Given the description of an element on the screen output the (x, y) to click on. 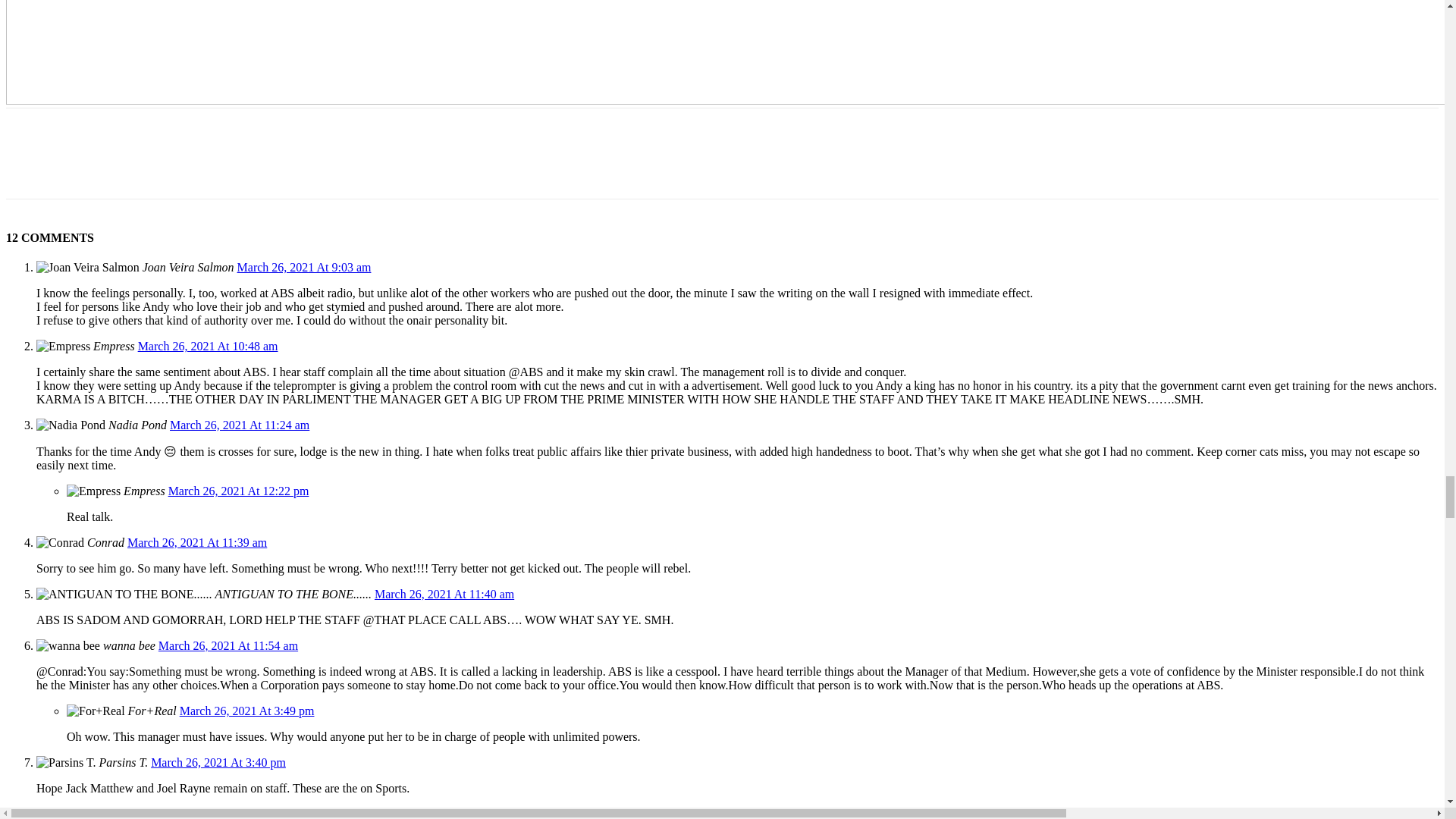
bottomFacebookLike (118, 132)
